Given the description of an element on the screen output the (x, y) to click on. 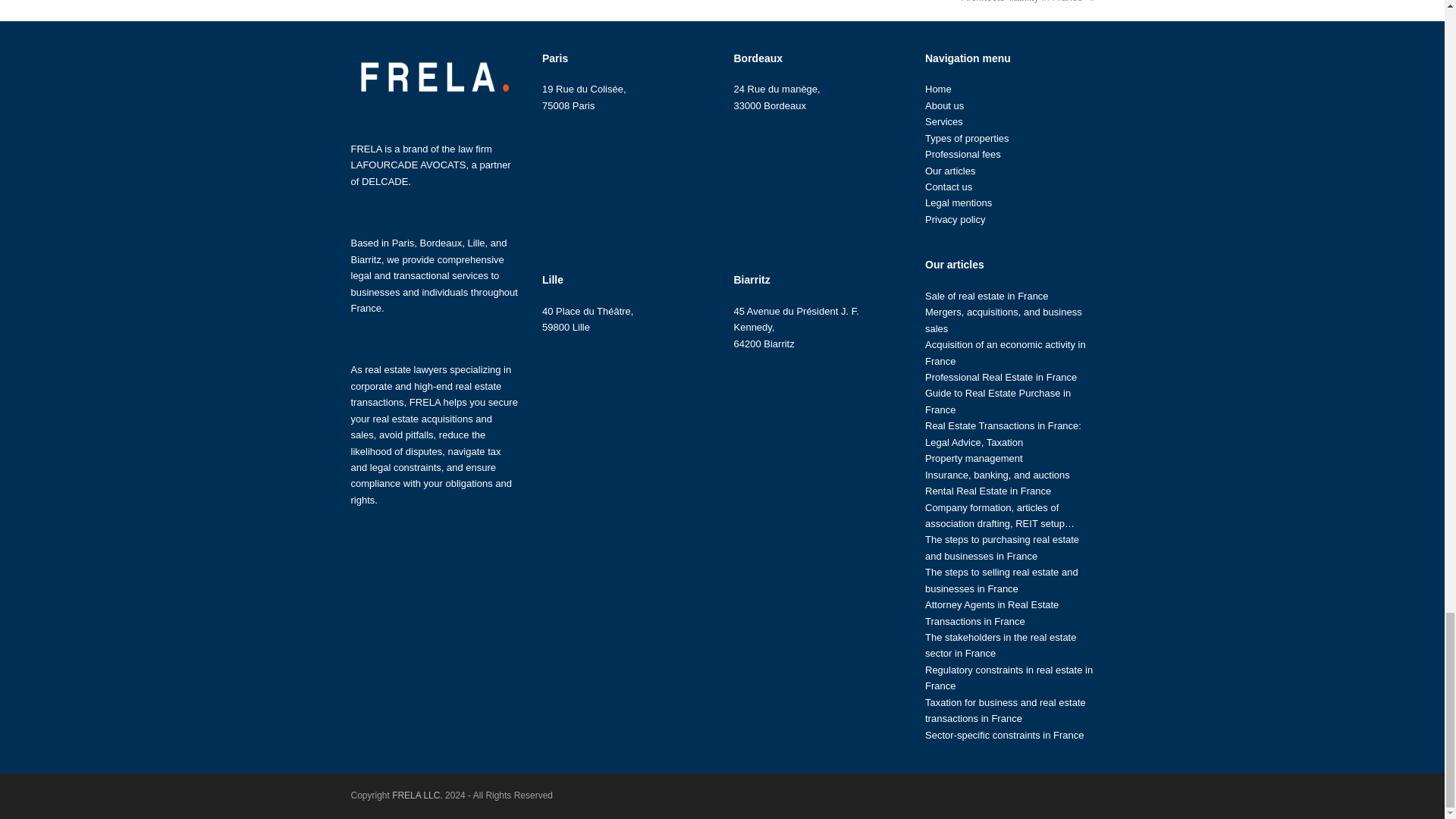
Google Map (626, 408)
Google Map (626, 185)
Google Map (817, 423)
Google Map (817, 185)
